Given the description of an element on the screen output the (x, y) to click on. 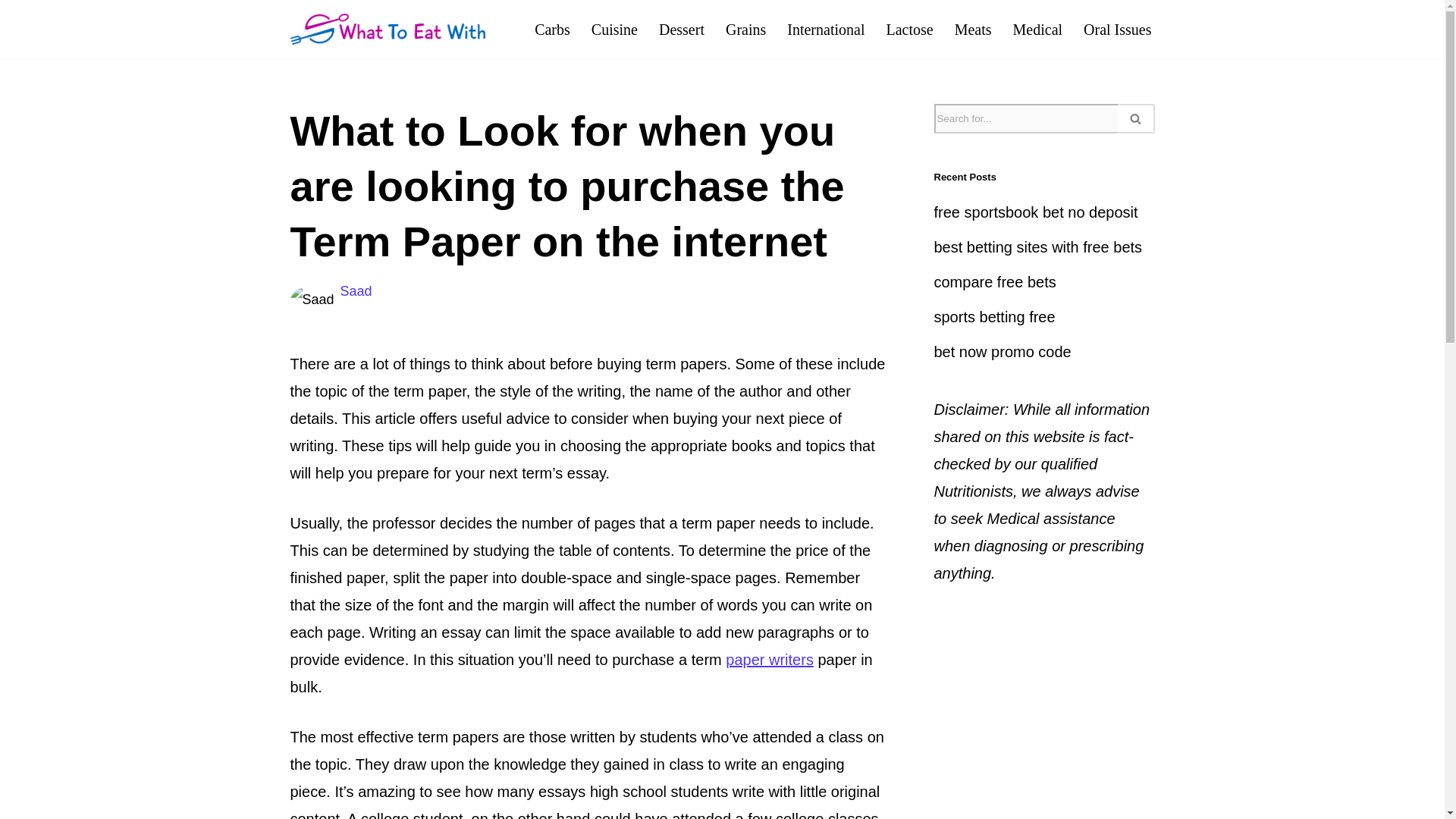
free sportsbook bet no deposit (1036, 211)
Medical (1037, 28)
Saad (356, 290)
compare free bets (995, 281)
Carbs (552, 28)
Posts by Saad (356, 290)
bet now promo code (1002, 351)
Cuisine (614, 28)
Grains (745, 28)
Dessert (681, 28)
paper writers (769, 659)
sports betting free (994, 316)
Lactose (909, 28)
Oral Issues (1117, 28)
best betting sites with free bets (1038, 247)
